Given the description of an element on the screen output the (x, y) to click on. 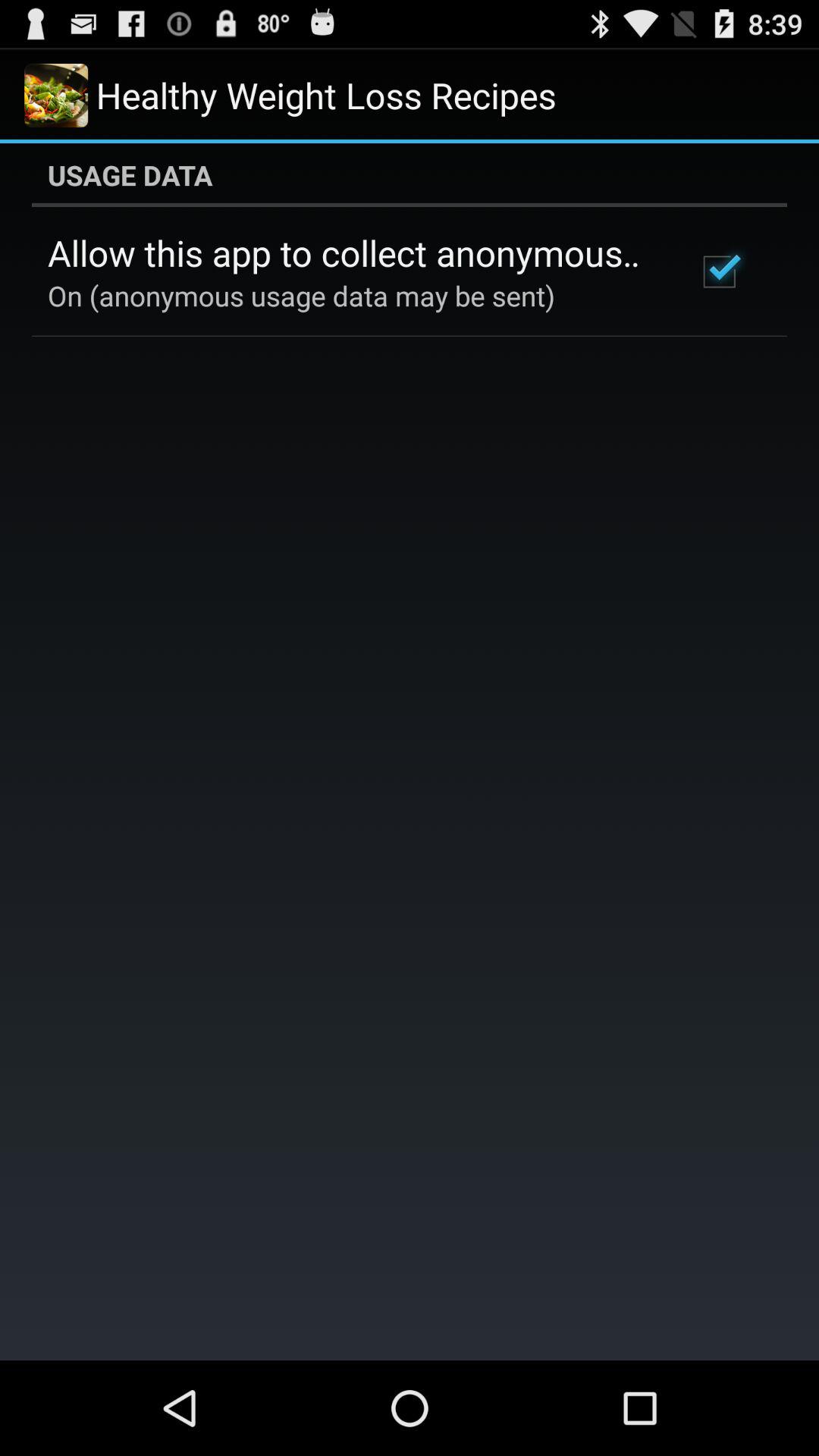
launch item below the usage data (719, 271)
